Given the description of an element on the screen output the (x, y) to click on. 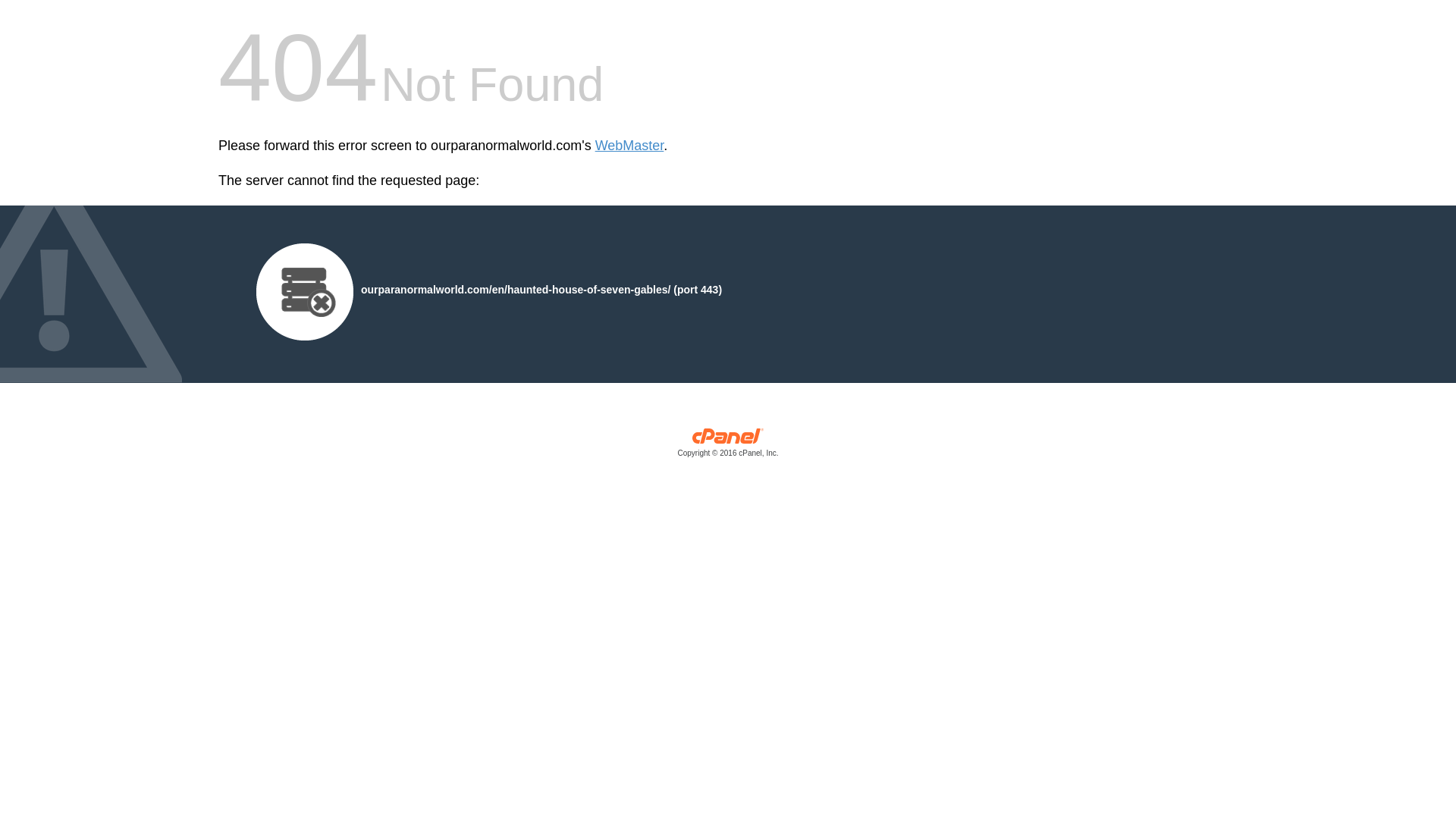
WebMaster (629, 145)
cPanel, Inc. (727, 446)
